Given the description of an element on the screen output the (x, y) to click on. 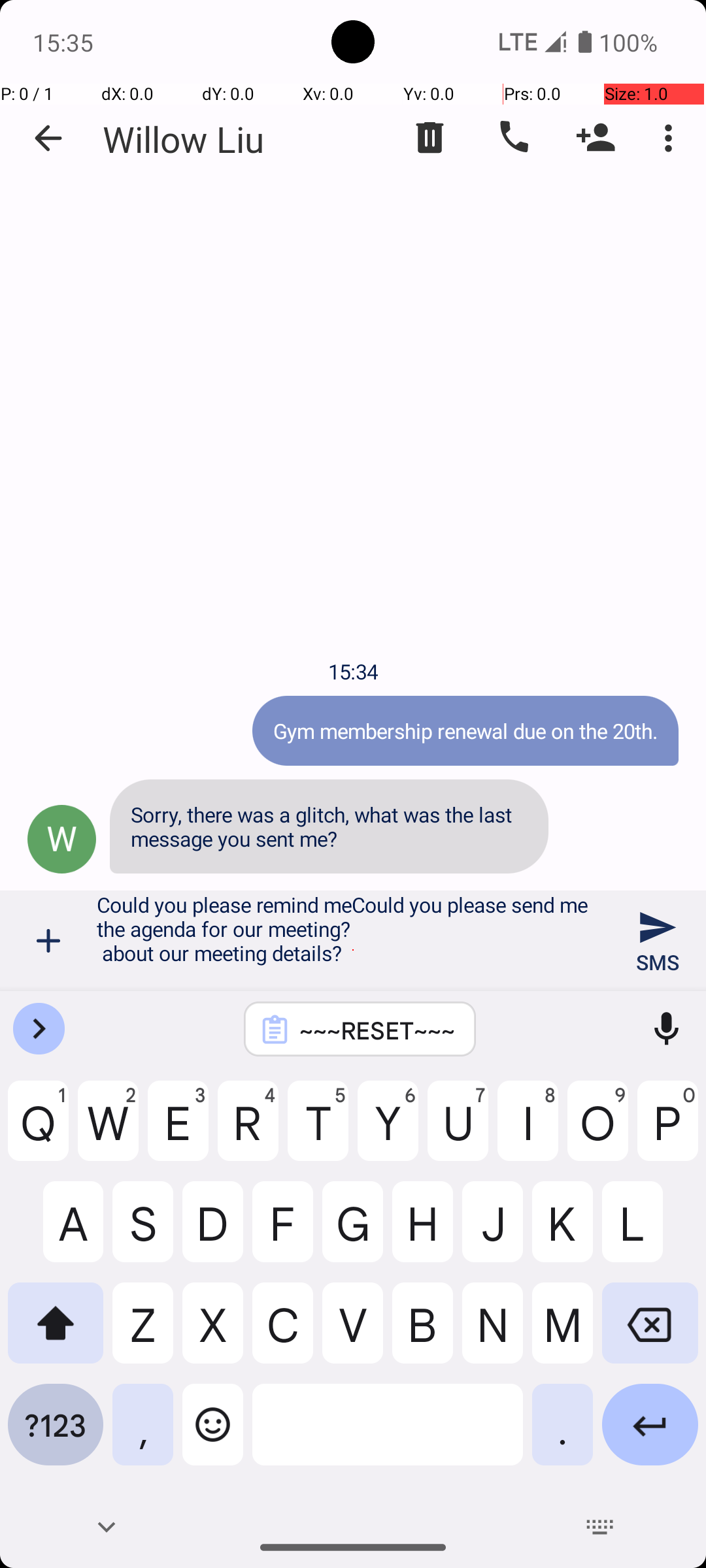
Willow Liu Element type: android.widget.TextView (183, 138)
Could you please remind meCould you please send me the agenda for our meeting?
 about our meeting details?
 Element type: android.widget.EditText (352, 940)
Gym membership renewal due on the 20th. Element type: android.widget.TextView (465, 730)
